Given the description of an element on the screen output the (x, y) to click on. 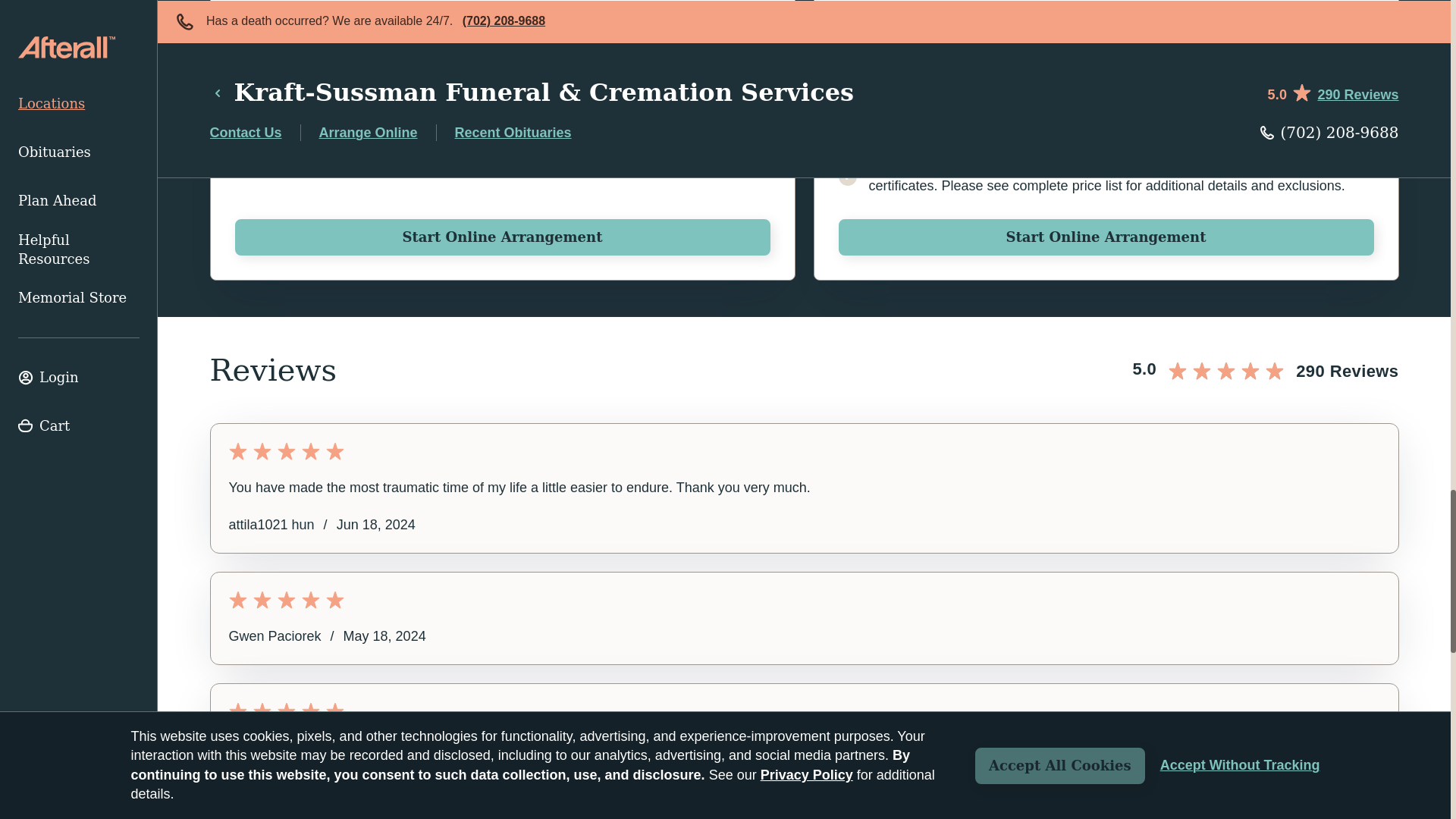
5 out of 5 Customer Rating (804, 599)
5 out of 5 Customer Rating (804, 451)
5 out of 5 Customer Rating (804, 710)
Location rating (1264, 369)
